Given the description of an element on the screen output the (x, y) to click on. 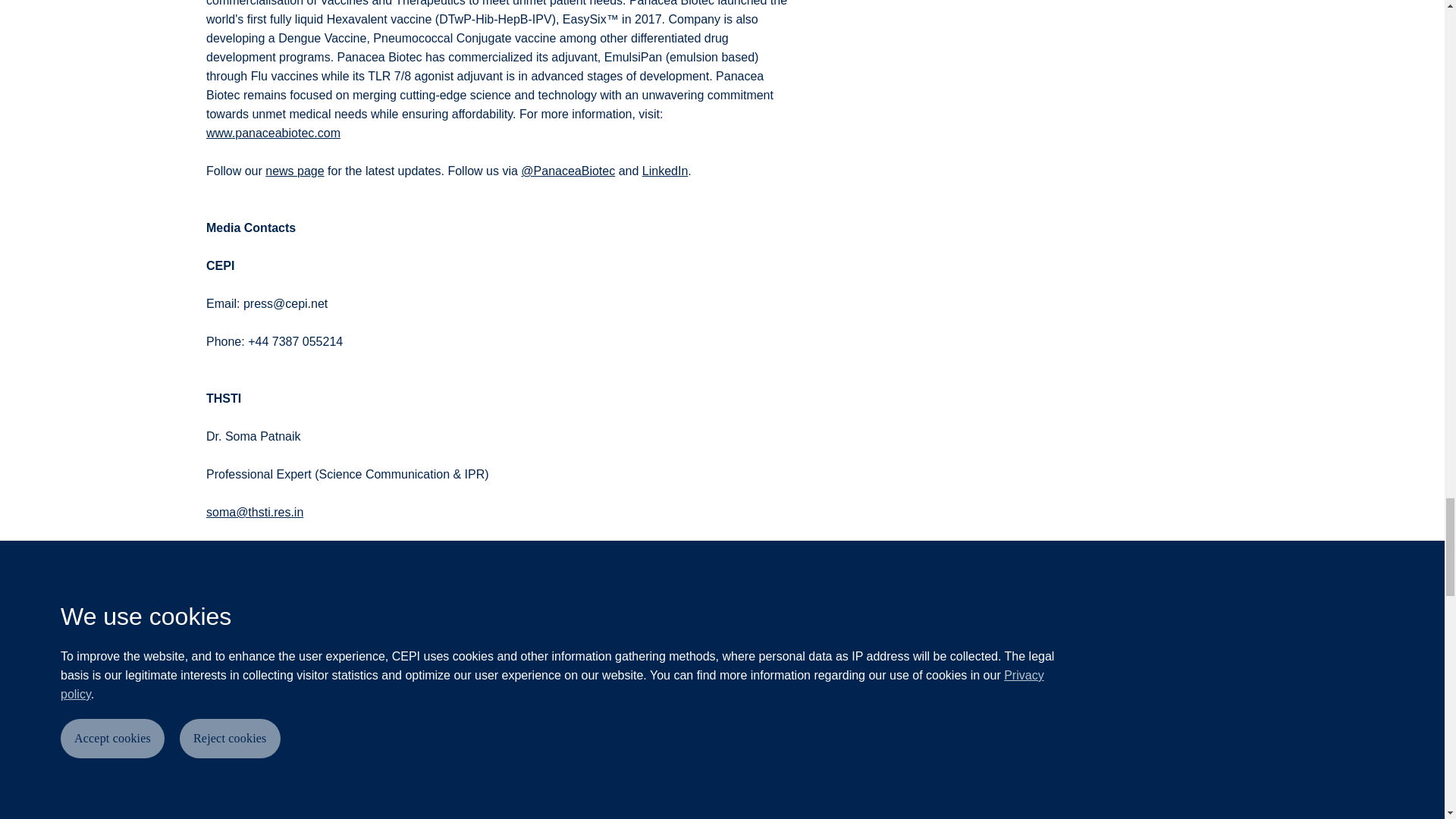
www.panaceabiotec.com (273, 132)
news page (293, 170)
LinkedIn (665, 170)
